Given the description of an element on the screen output the (x, y) to click on. 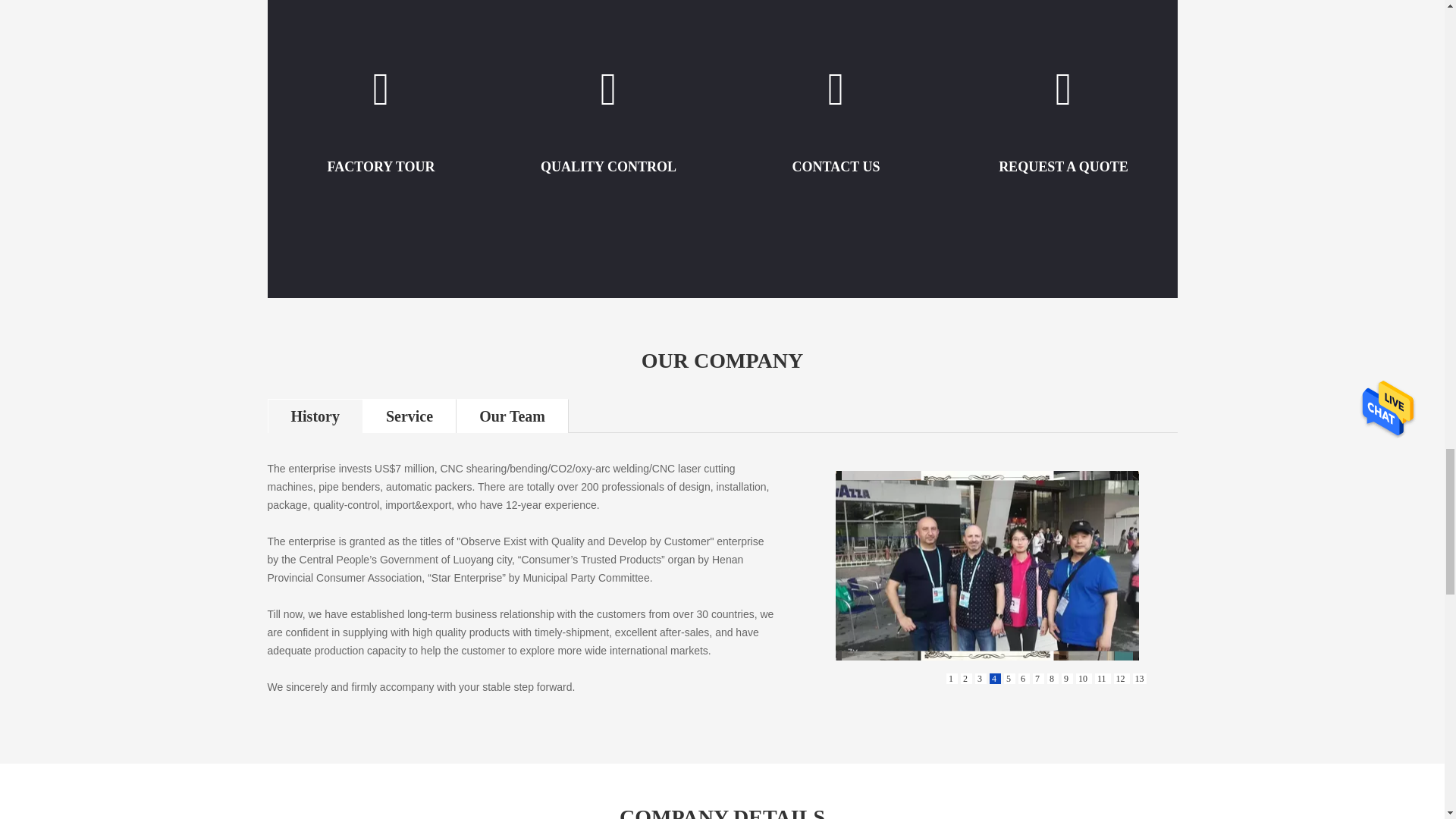
CONTACT US (836, 166)
FACTORY TOUR (381, 166)
QUALITY CONTROL (608, 166)
